Given the description of an element on the screen output the (x, y) to click on. 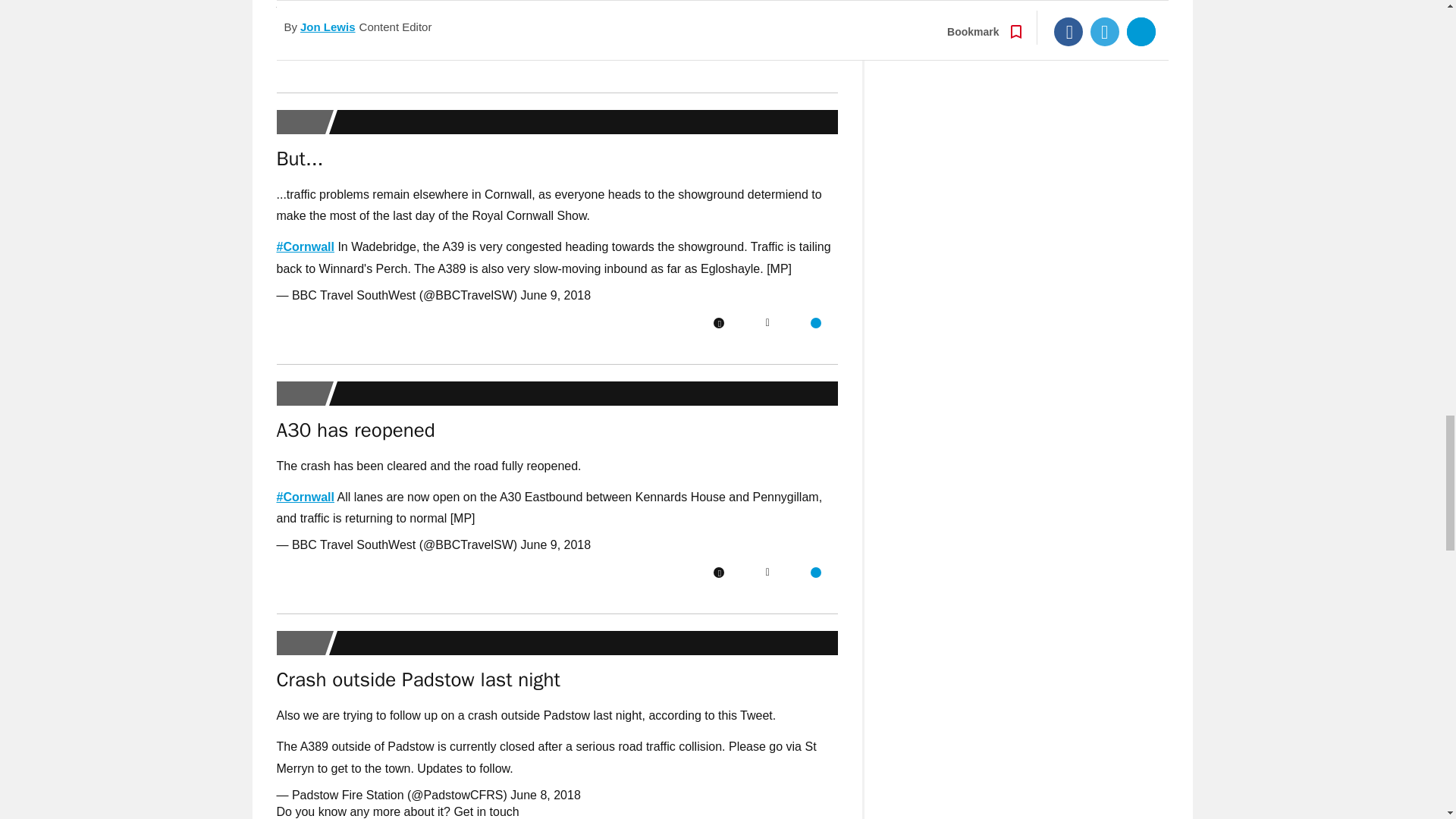
Facebook (718, 50)
Facebook (718, 322)
Facebook (718, 572)
Twitter (767, 50)
Twitter (767, 322)
